Given the description of an element on the screen output the (x, y) to click on. 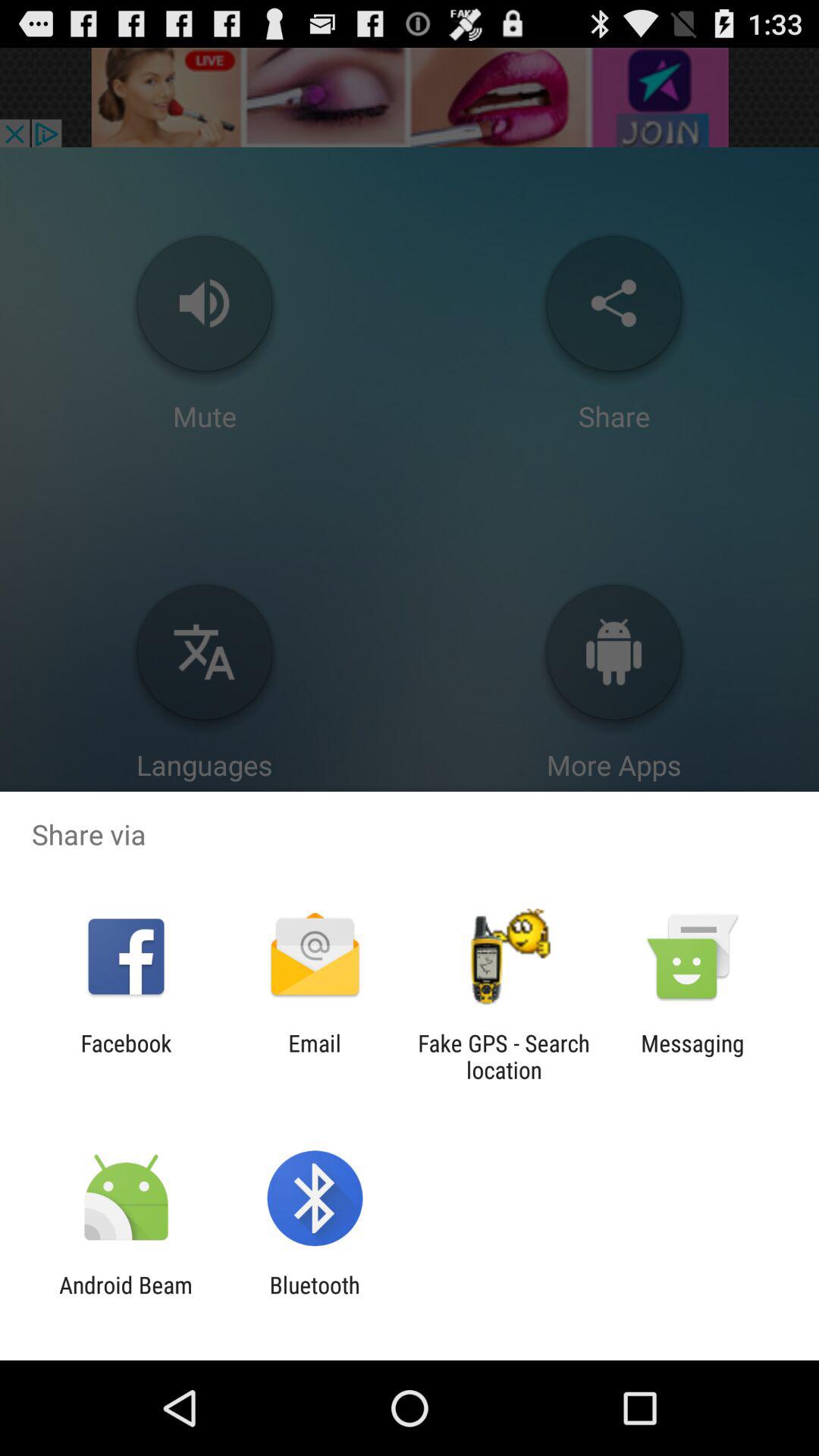
turn off icon next to the messaging (503, 1056)
